Given the description of an element on the screen output the (x, y) to click on. 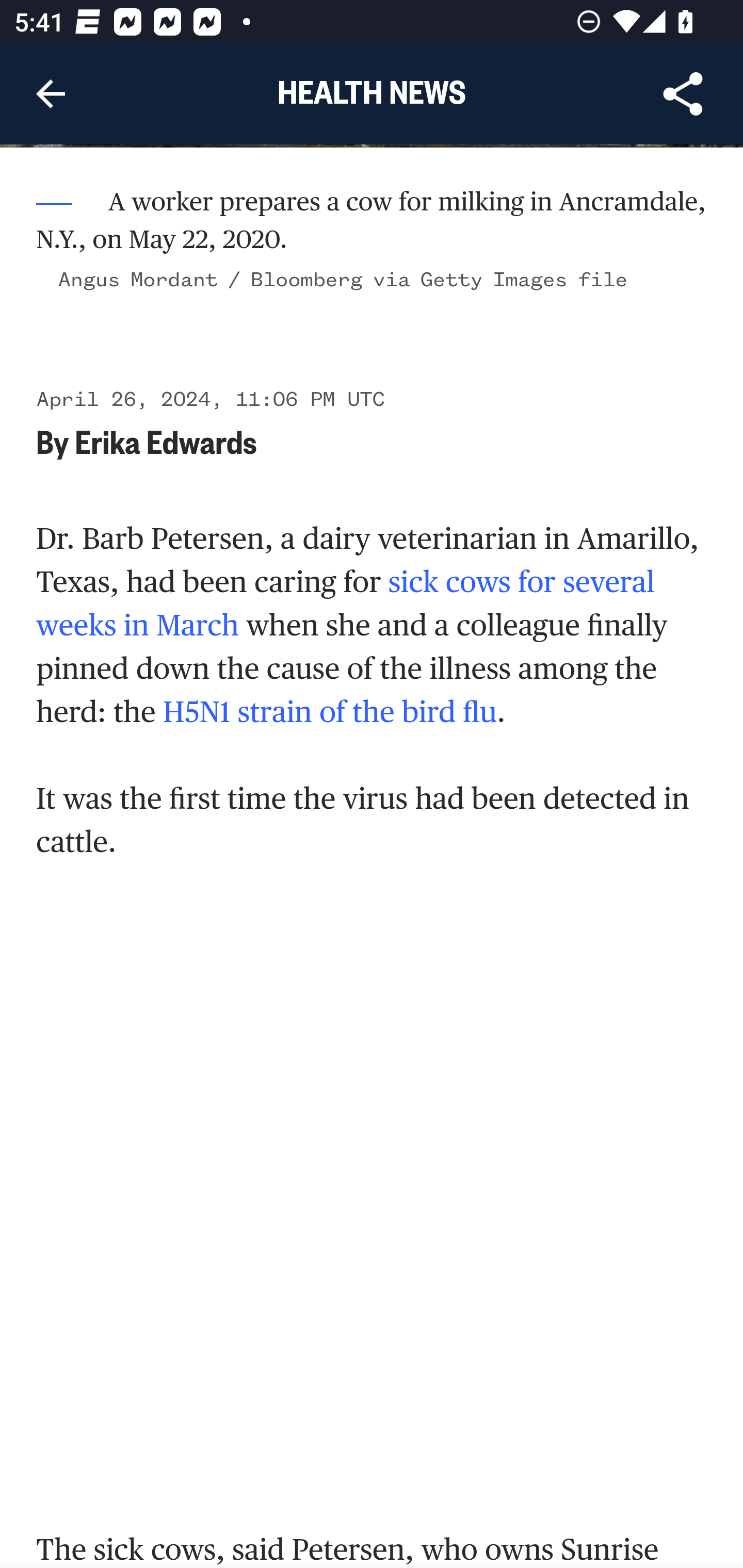
Navigate up (50, 93)
Share Article, button (683, 94)
Erika Edwards (165, 442)
sick cows for several weeks in March (345, 604)
H5N1 strain of the bird flu (330, 712)
